Given the description of an element on the screen output the (x, y) to click on. 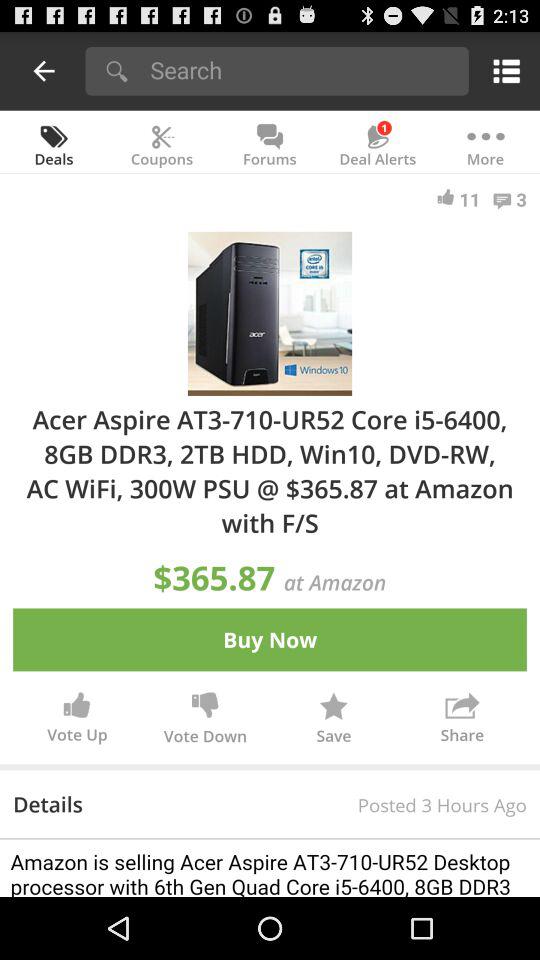
this button is to return to the previous page (44, 70)
